Given the description of an element on the screen output the (x, y) to click on. 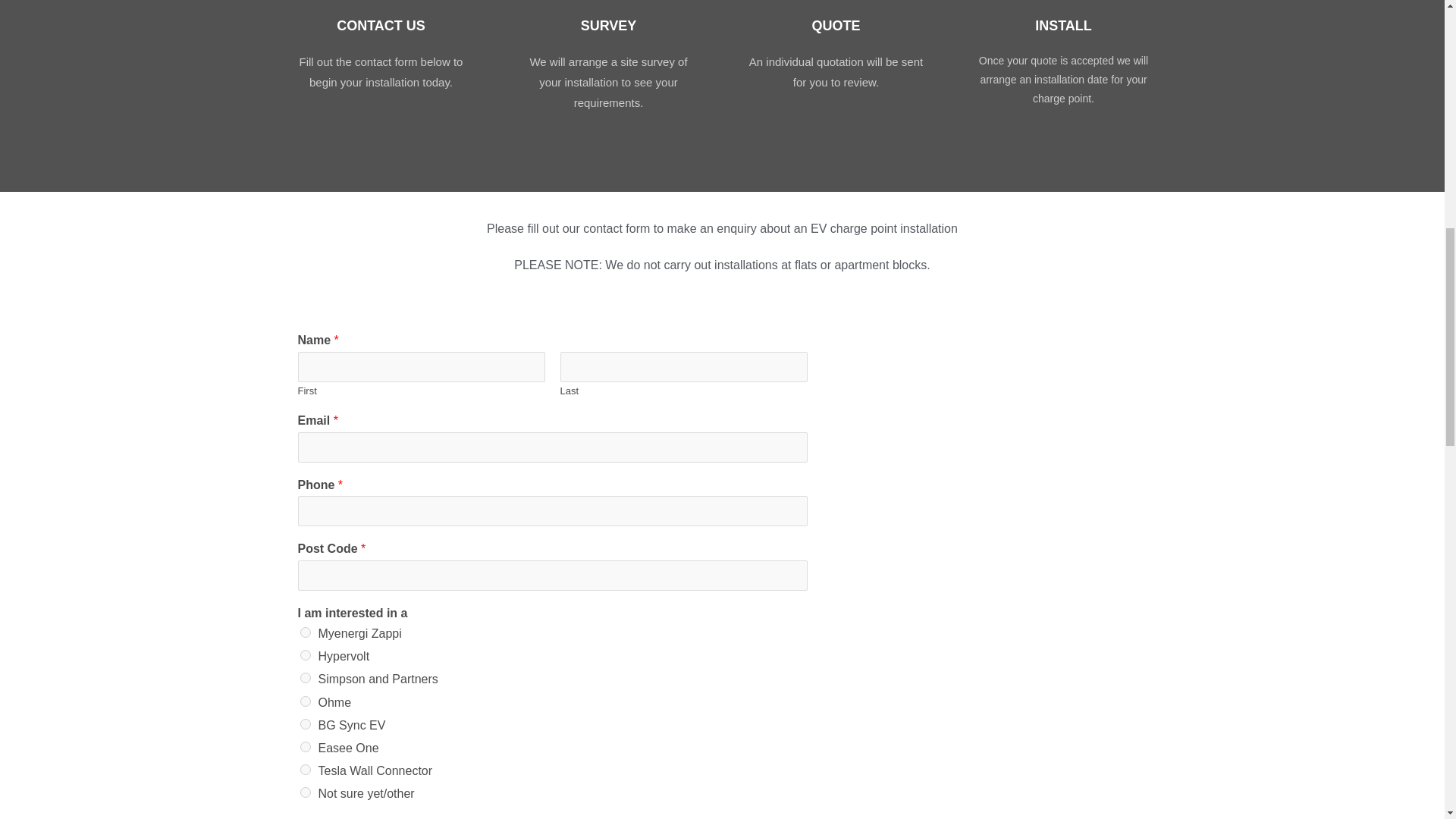
BG Sync EV (305, 724)
Easee One (305, 747)
Simpson and Partners  (305, 677)
Myenergi Zappi (305, 632)
Tesla Wall Connector (305, 769)
Hypervolt  (305, 655)
Ohme (305, 701)
